Given the description of an element on the screen output the (x, y) to click on. 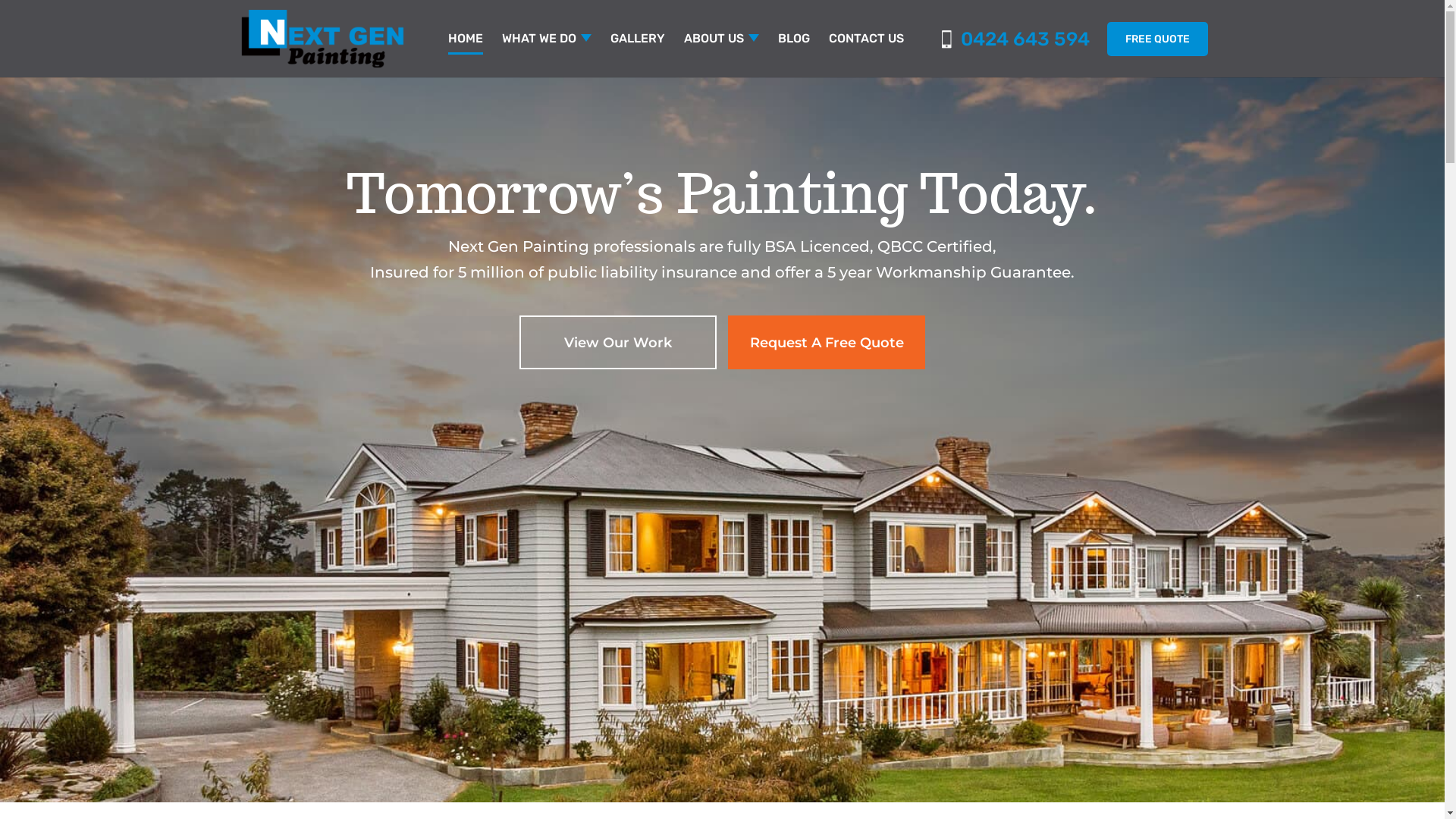
ABOUT US Element type: text (721, 54)
BLOG Element type: text (793, 54)
CONTACT US Element type: text (865, 54)
WHAT WE DO Element type: text (546, 54)
FREE QUOTE Element type: text (1157, 38)
GALLERY Element type: text (636, 54)
HOME Element type: text (464, 54)
View Our Work Element type: text (617, 342)
Request A Free Quote Element type: text (826, 342)
0424 643 594 Element type: text (1015, 38)
